Given the description of an element on the screen output the (x, y) to click on. 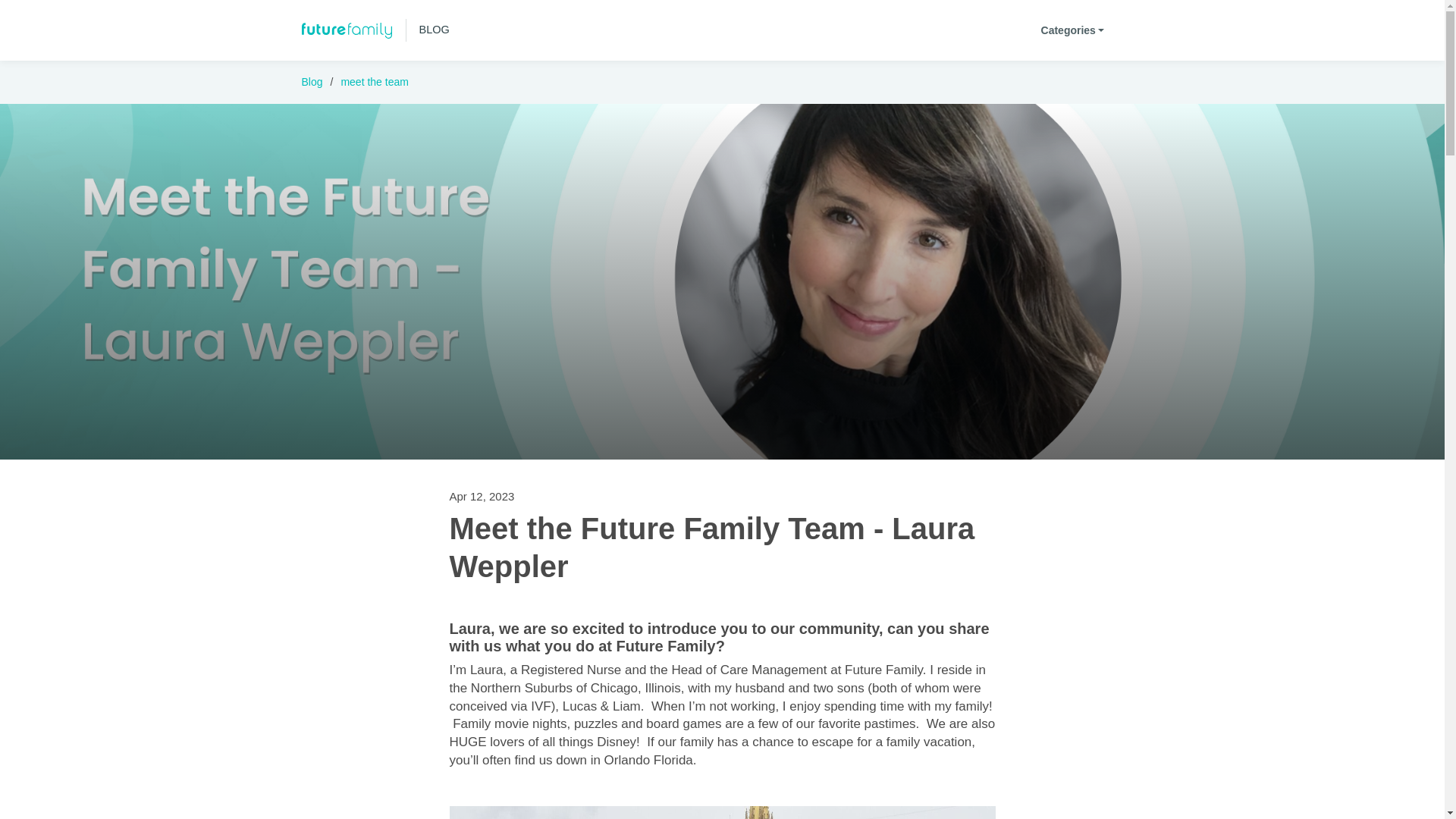
Categories (1072, 30)
Blog (312, 82)
BLOG (375, 29)
meet the team (374, 82)
